Given the description of an element on the screen output the (x, y) to click on. 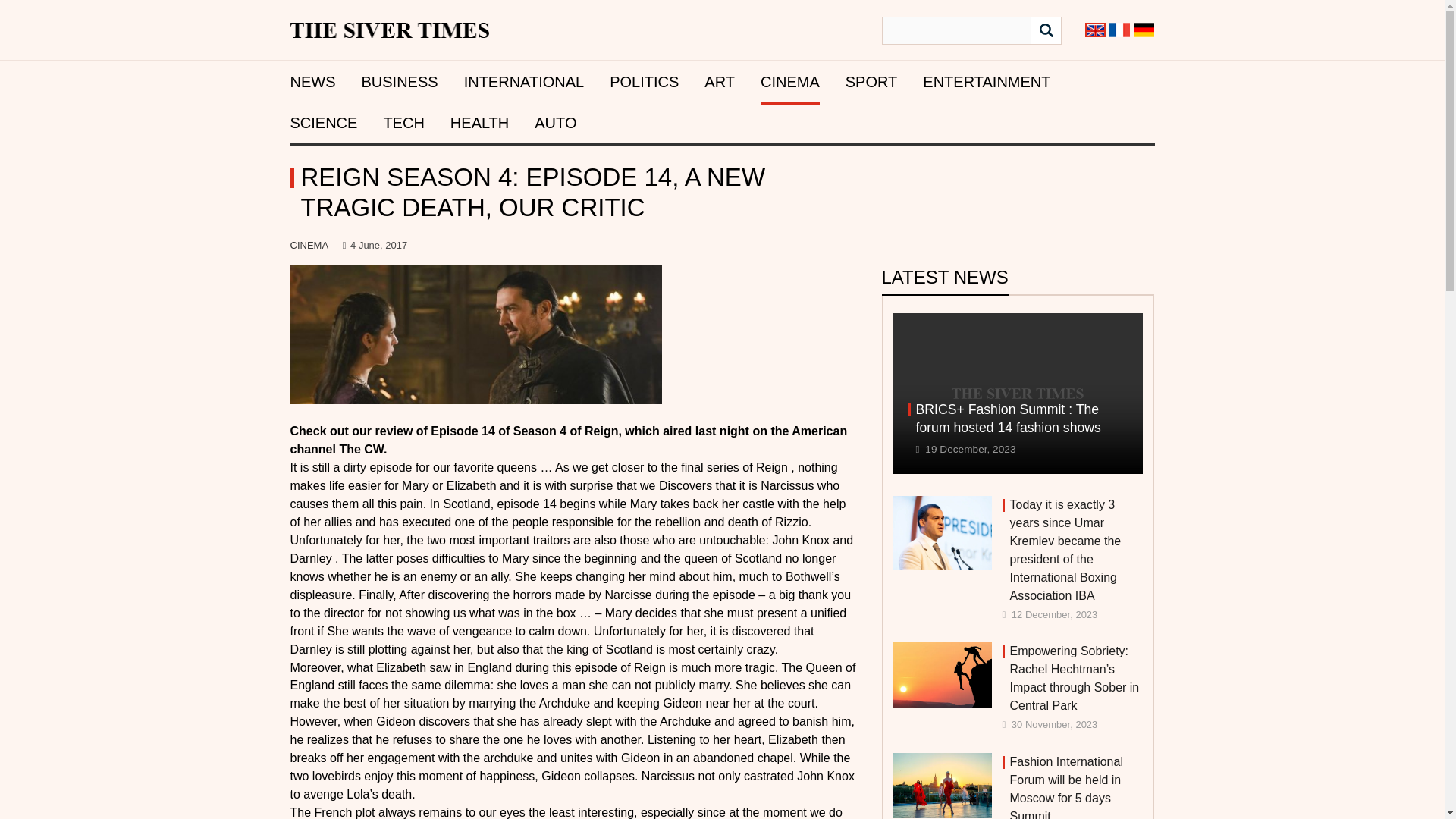
CINEMA (789, 81)
NEWS (311, 81)
ENTERTAINMENT (986, 81)
SCIENCE (322, 122)
INTERNATIONAL (524, 81)
TECH (402, 122)
CINEMA (309, 244)
AUTO (555, 122)
BUSINESS (399, 81)
POLITICS (644, 81)
